Given the description of an element on the screen output the (x, y) to click on. 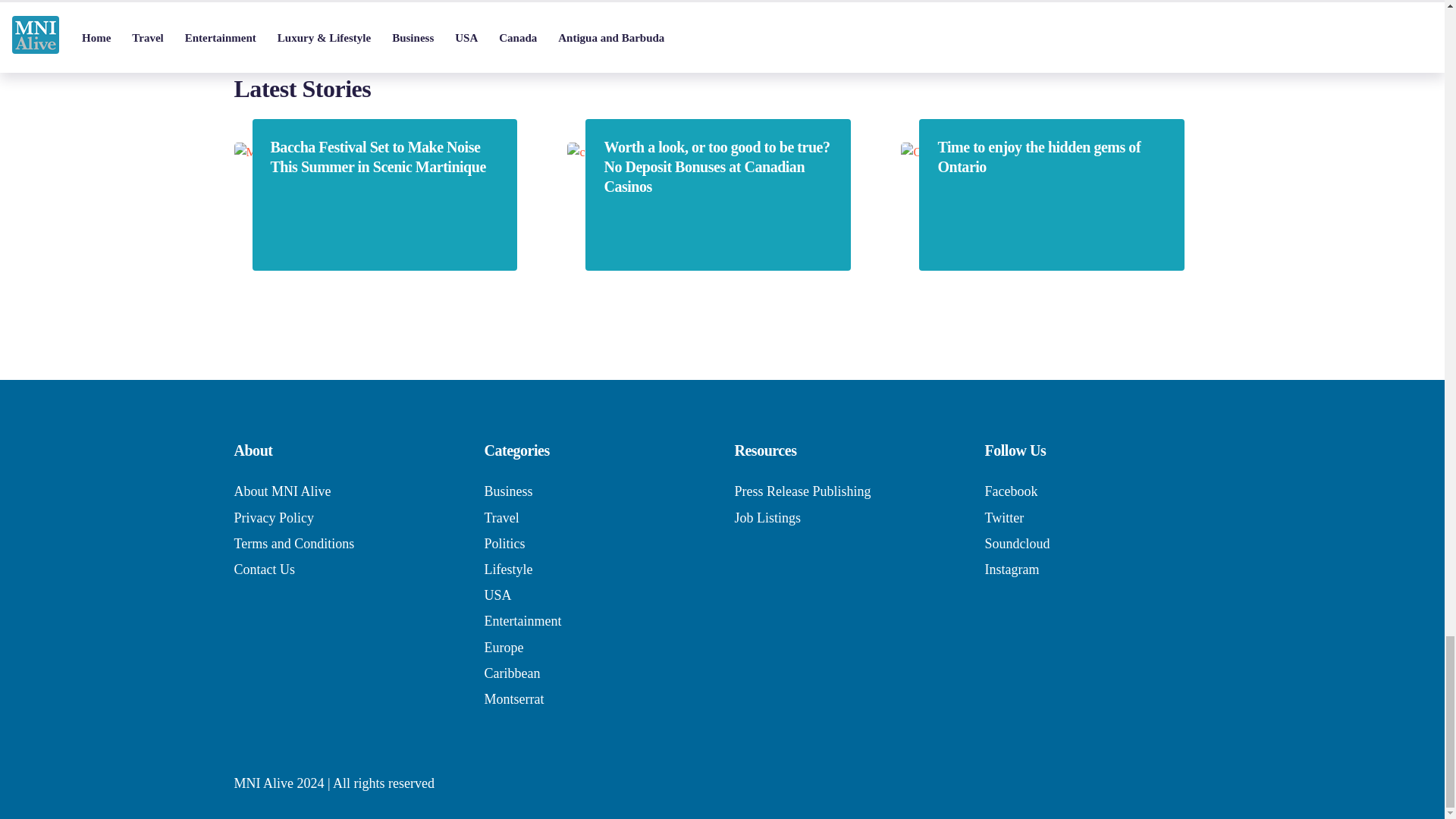
Politics (503, 543)
Europe (502, 647)
Time to enjoy the hidden gems of Ontario (1051, 156)
Job Listings (766, 517)
Travel (500, 517)
Caribbean (511, 672)
About MNI Alive (281, 491)
Terms and Conditions (292, 543)
Contact Us (263, 569)
Instagram (1011, 569)
Twitter (1003, 517)
Montserrat (513, 698)
Facebook (1010, 491)
Business (507, 491)
